Given the description of an element on the screen output the (x, y) to click on. 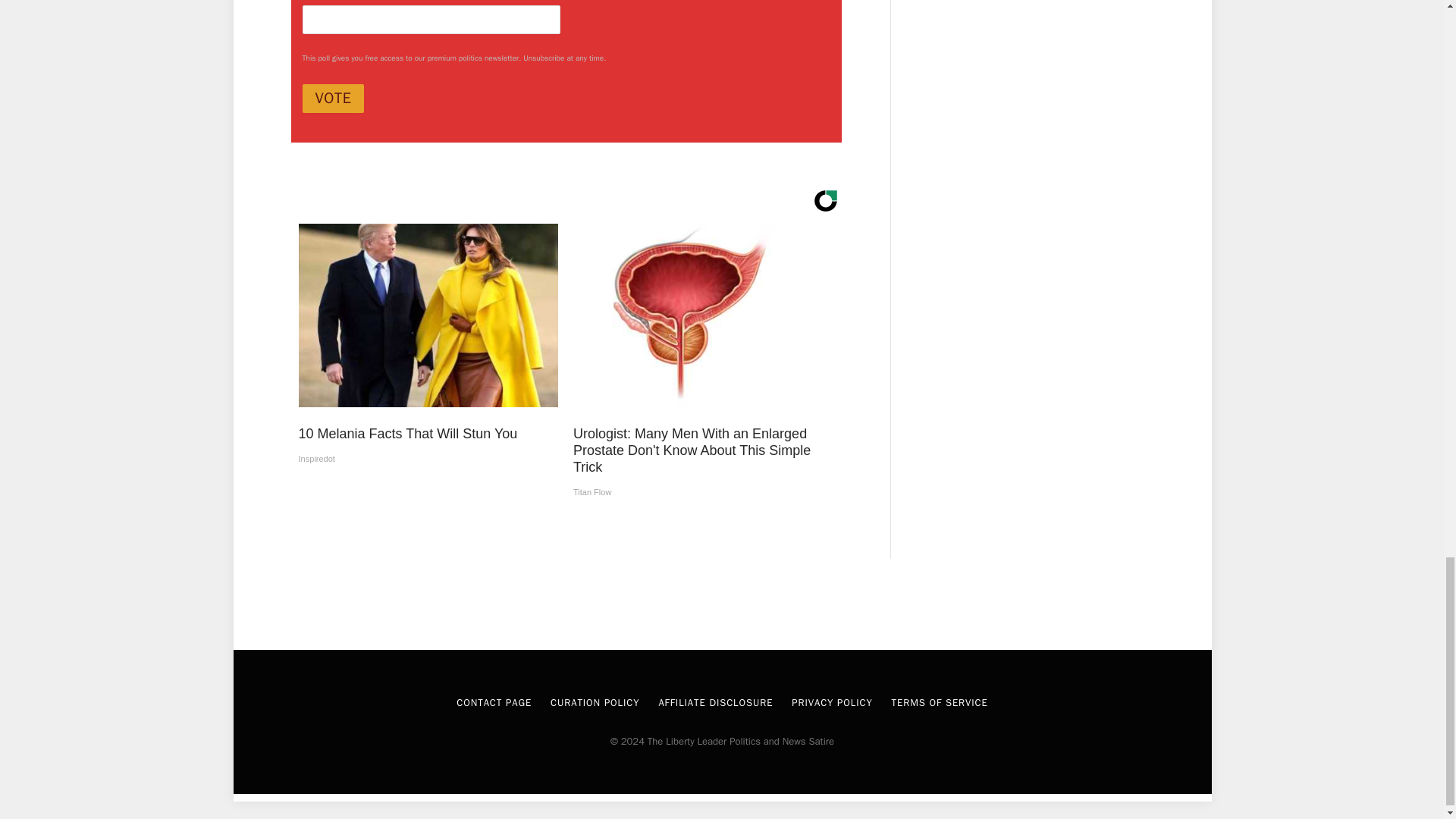
VOTE (332, 98)
CONTACT PAGE (494, 702)
VOTE (332, 98)
